Given the description of an element on the screen output the (x, y) to click on. 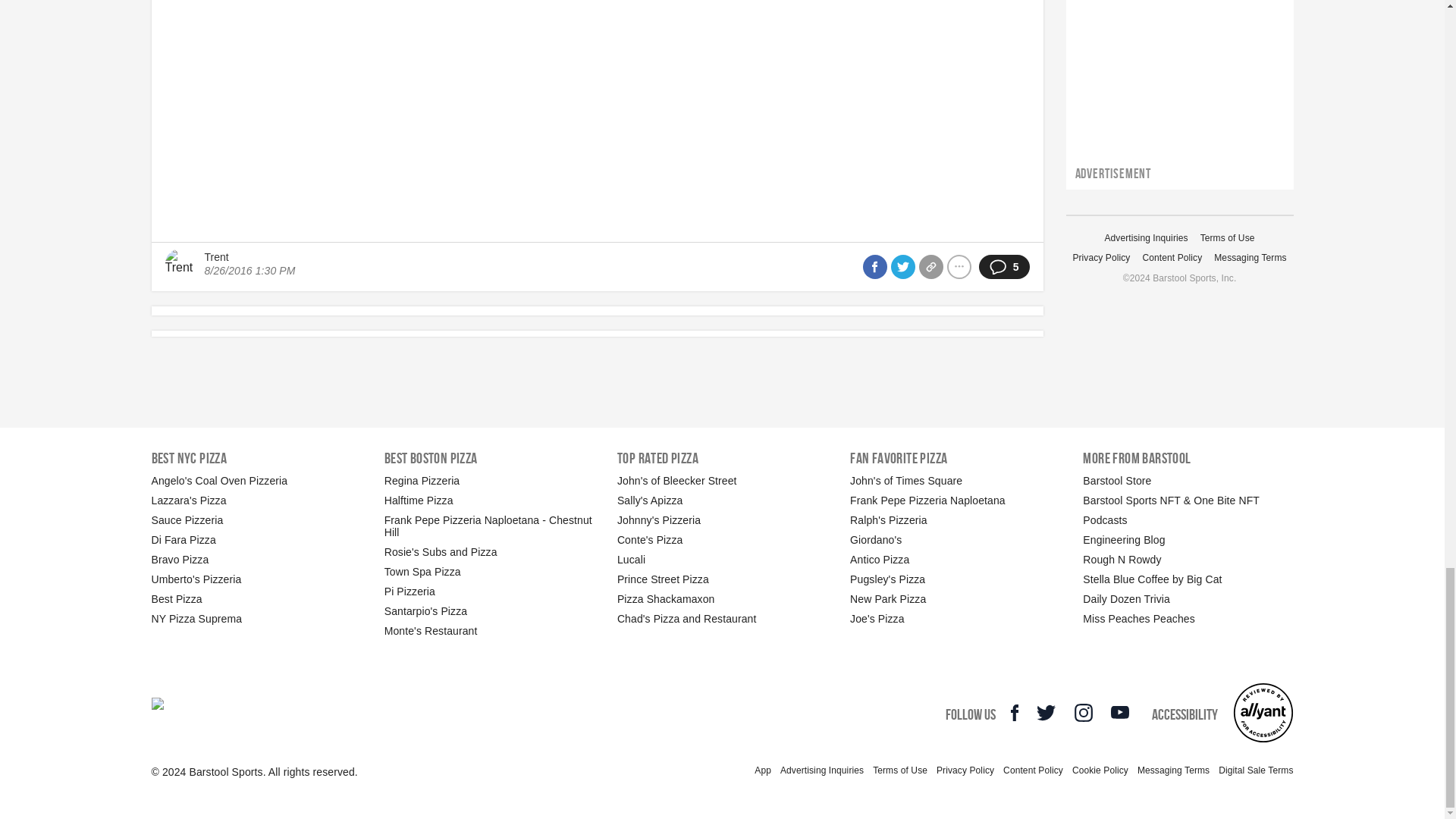
Instagram Icon (1083, 712)
Twitter Icon (1045, 712)
YouTube Icon (1118, 711)
Reviewed by Allyant for accessibility (1263, 712)
